Given the description of an element on the screen output the (x, y) to click on. 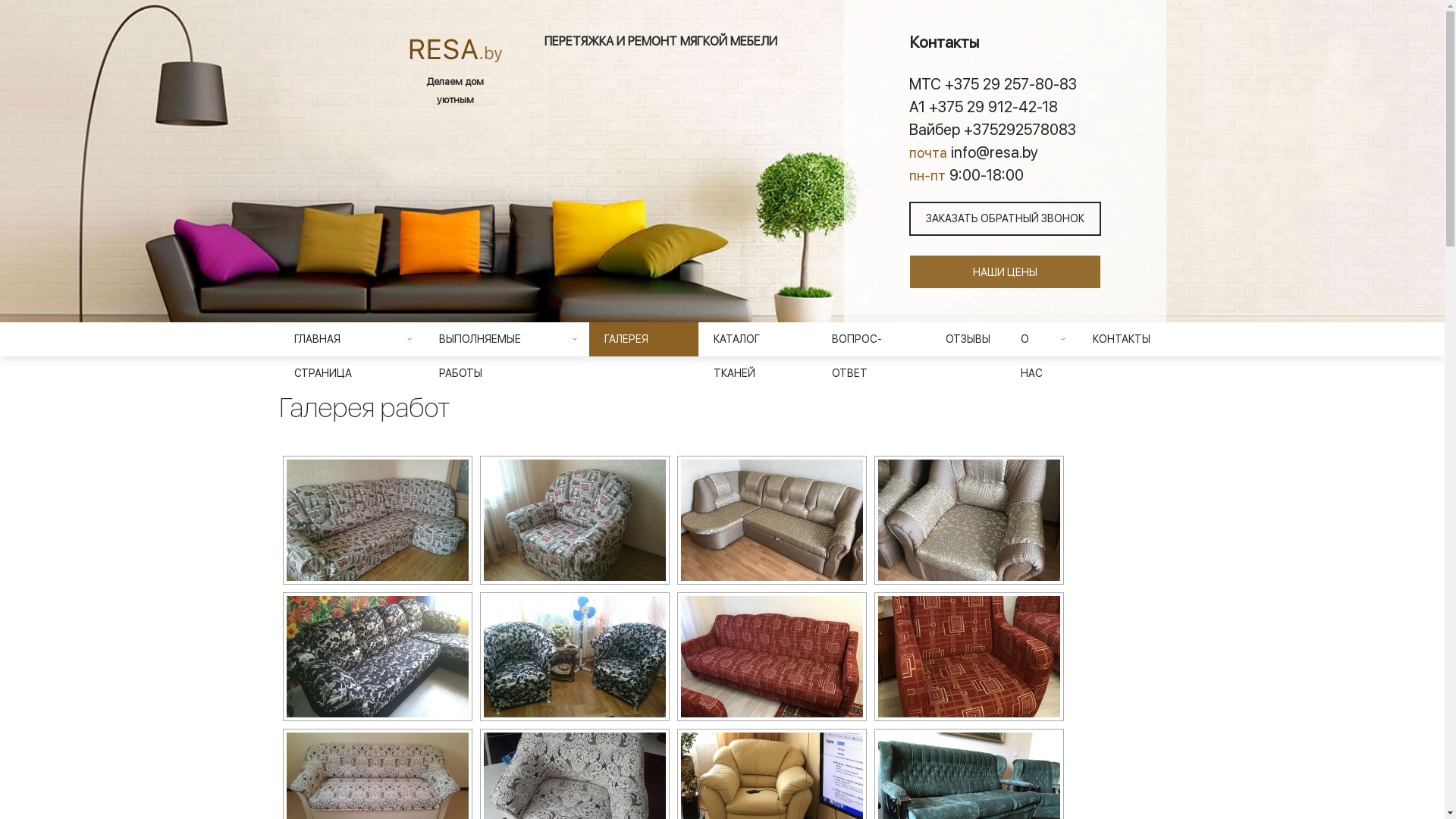
A1 +375 29 912-42-18 Element type: text (1004, 105)
MTC +375 29 257-80-83 Element type: text (1004, 83)
